Given the description of an element on the screen output the (x, y) to click on. 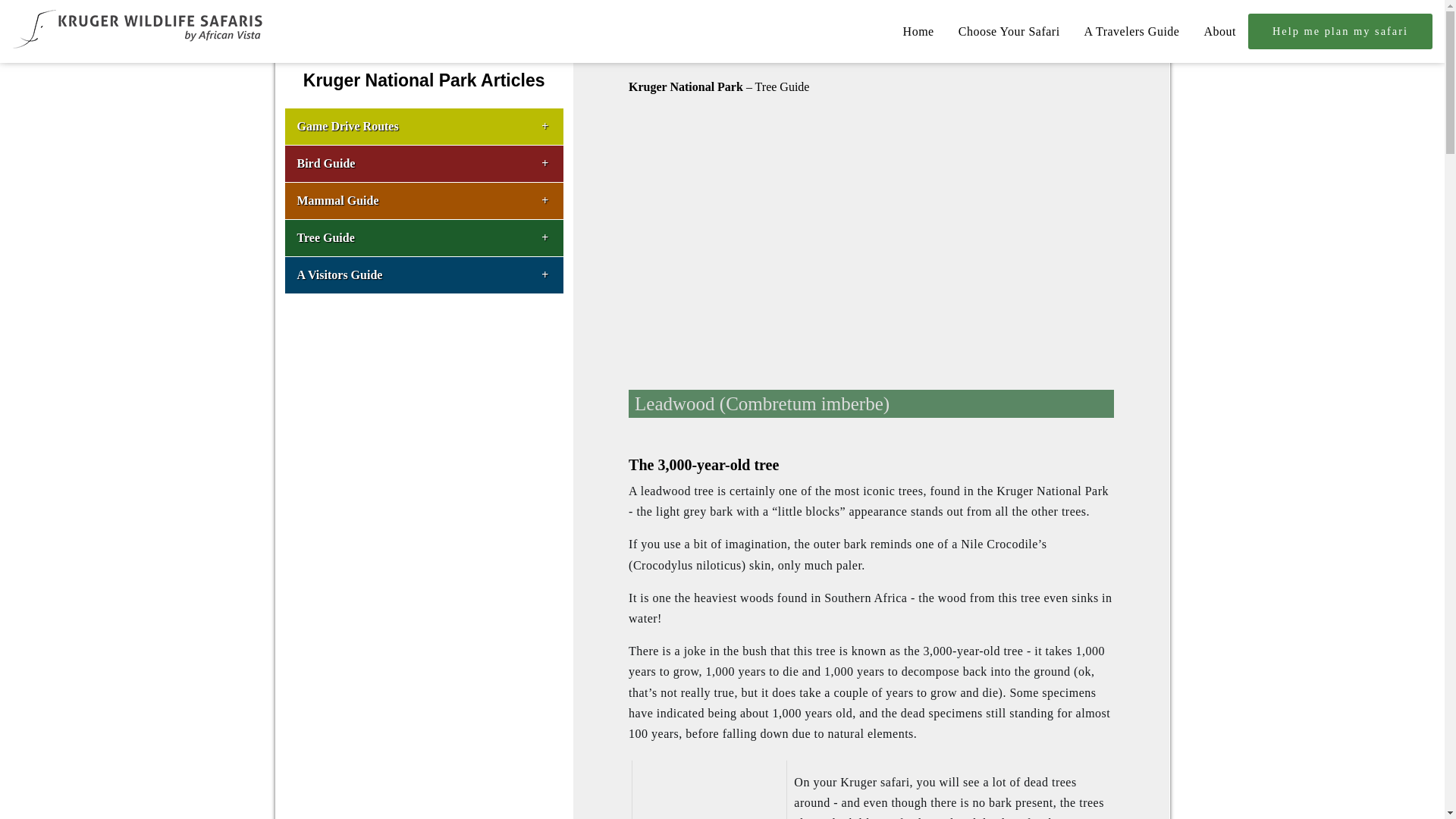
Choose Your Safari (1008, 31)
About (1220, 31)
Help me plan my safari (1339, 31)
A Travelers Guide (1131, 31)
Home (918, 31)
Kruger Wildlife Home (144, 47)
